Given the description of an element on the screen output the (x, y) to click on. 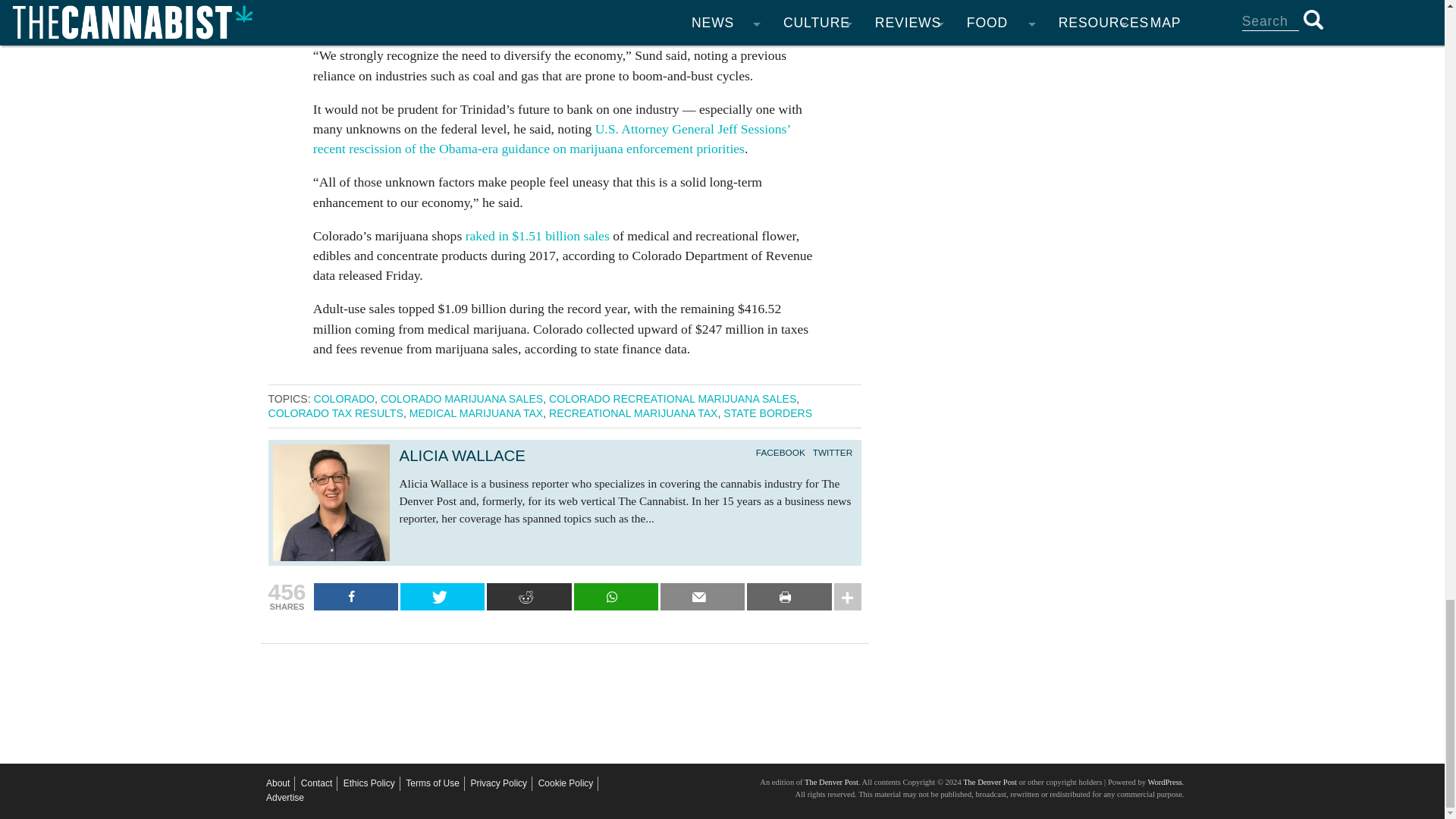
Denver Post Terms of Use (433, 783)
The Denver Post (832, 782)
Personal Publishing Platform (1163, 782)
Denver Post Ethics Policy (368, 783)
About The Cannabist (277, 783)
Denver Post Privacy Policy (498, 783)
Contact The Cannabist (316, 783)
Advertise on The Cannabist (285, 798)
The Denver Post (989, 782)
